Given the description of an element on the screen output the (x, y) to click on. 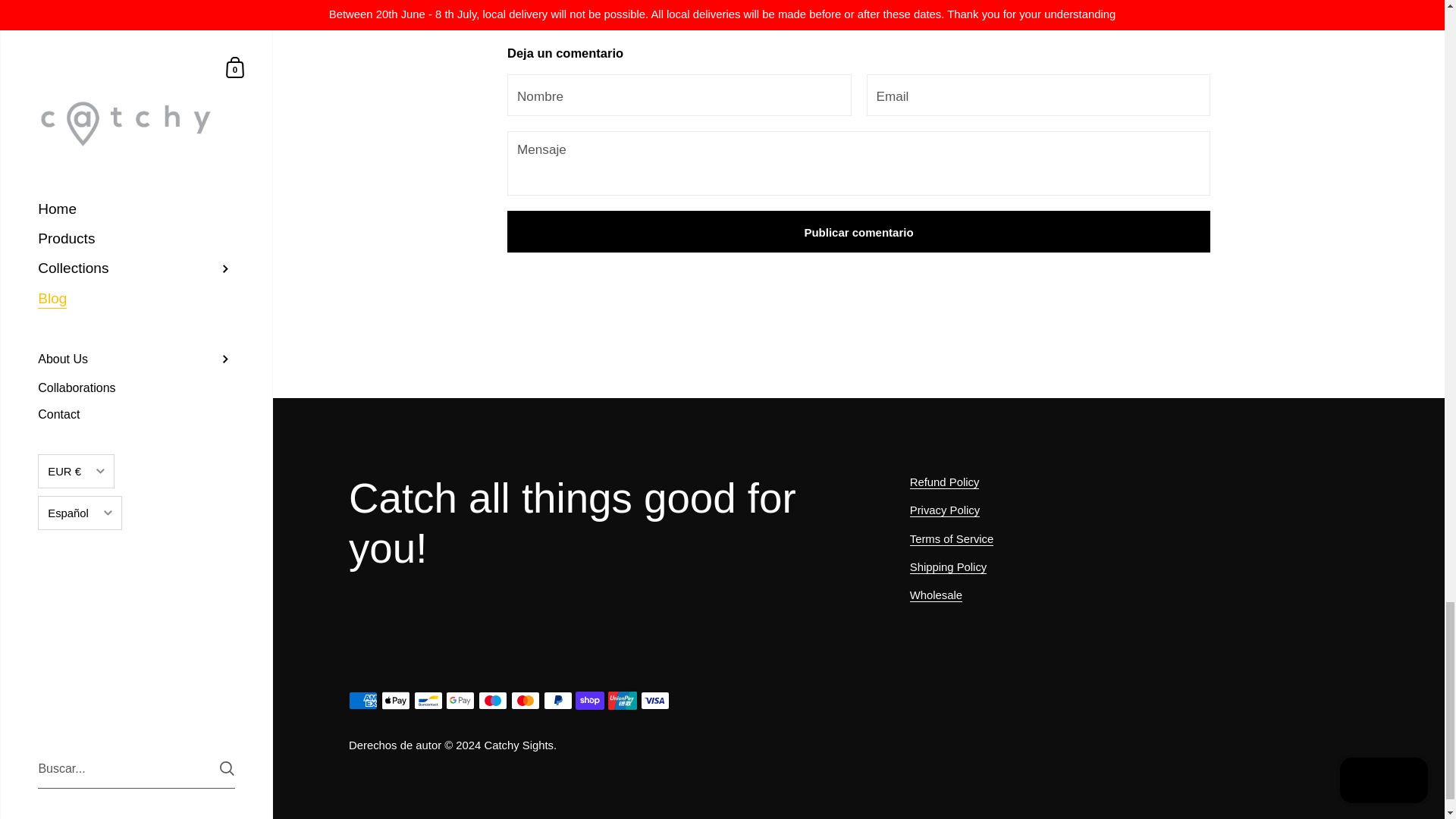
Publicar comentario (857, 231)
Apple Pay (395, 700)
PayPal (557, 700)
Visa (654, 700)
Maestro (492, 700)
Shop Pay (589, 700)
American Express (363, 700)
Union Pay (622, 700)
Bancontact (427, 700)
Google Pay (459, 700)
Mastercard (525, 700)
